Given the description of an element on the screen output the (x, y) to click on. 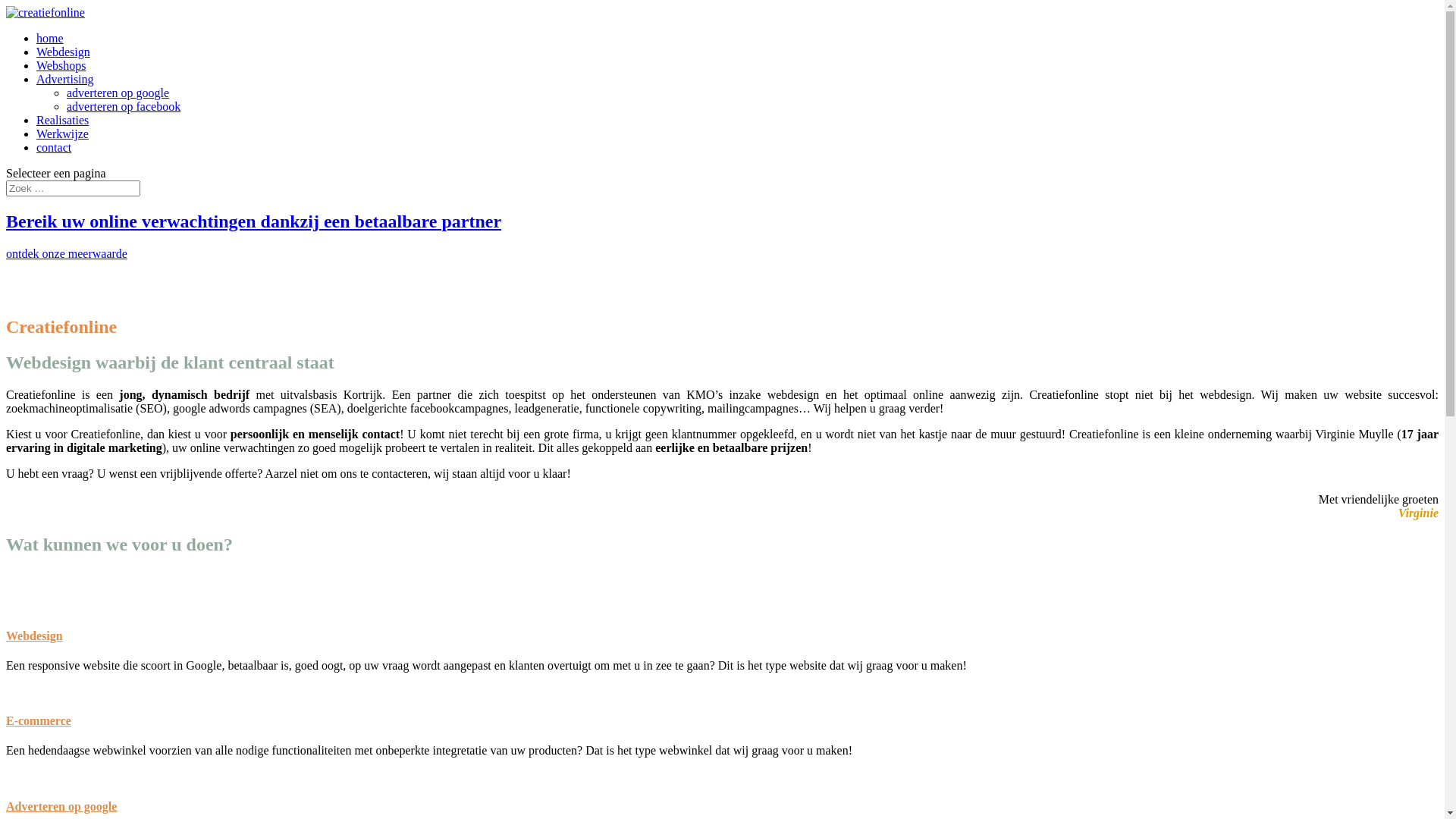
adverteren op facebook Element type: text (123, 106)
Werkwijze Element type: text (62, 133)
home Element type: text (49, 37)
Adverteren op google Element type: text (61, 806)
Zoek naar: Element type: hover (73, 188)
E-commerce Element type: text (38, 720)
Advertising Element type: text (65, 78)
ontdek onze meerwaarde Element type: text (66, 253)
Webdesign Element type: text (34, 635)
Realisaties Element type: text (62, 119)
contact Element type: text (53, 147)
adverteren op google Element type: text (117, 92)
Webshops Element type: text (60, 65)
Webdesign Element type: text (63, 51)
